Given the description of an element on the screen output the (x, y) to click on. 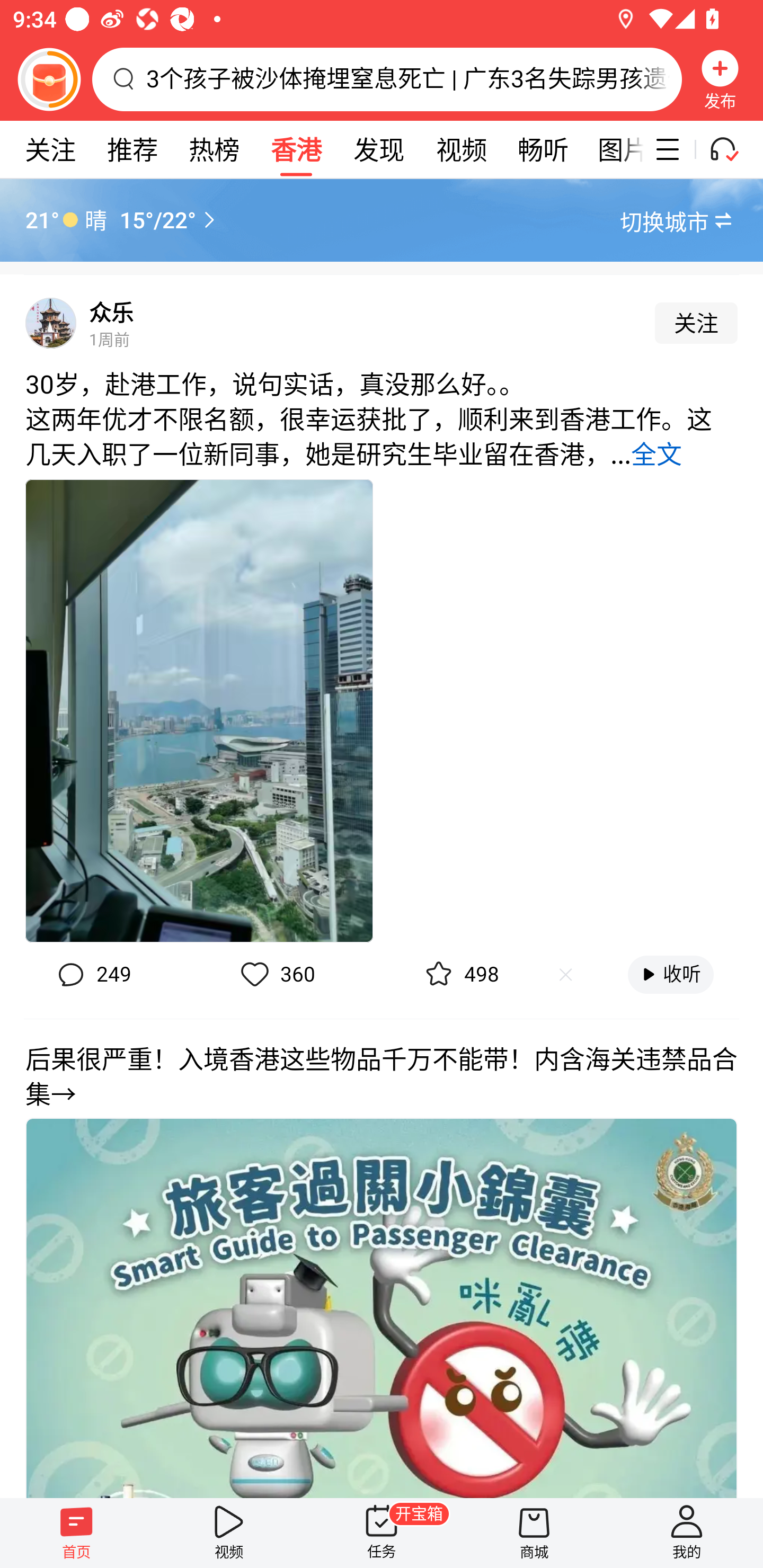
阅读赚金币 (48, 79)
发布 发布，按钮 (720, 78)
关注 (50, 149)
推荐 (132, 149)
热榜 (213, 149)
香港 (295, 149)
发现 (378, 149)
视频 (461, 149)
畅听 (542, 149)
听一听开关 (732, 149)
众乐头像 众乐,,,,1周前 众乐 1周前 关注 关注 (381, 317)
众乐 (111, 312)
众乐头像 (50, 322)
关注 (695, 322)
评论,249 249 (91, 975)
收藏,498 498 (459, 975)
收听 (670, 974)
减少此类内容推荐 (564, 974)
后果很严重！入境香港这些物品千万不能带！内含海关违禁品合集→ (381, 1258)
首页 (76, 1532)
视频 (228, 1532)
任务 开宝箱 (381, 1532)
商城 (533, 1532)
我的 (686, 1532)
